Given the description of an element on the screen output the (x, y) to click on. 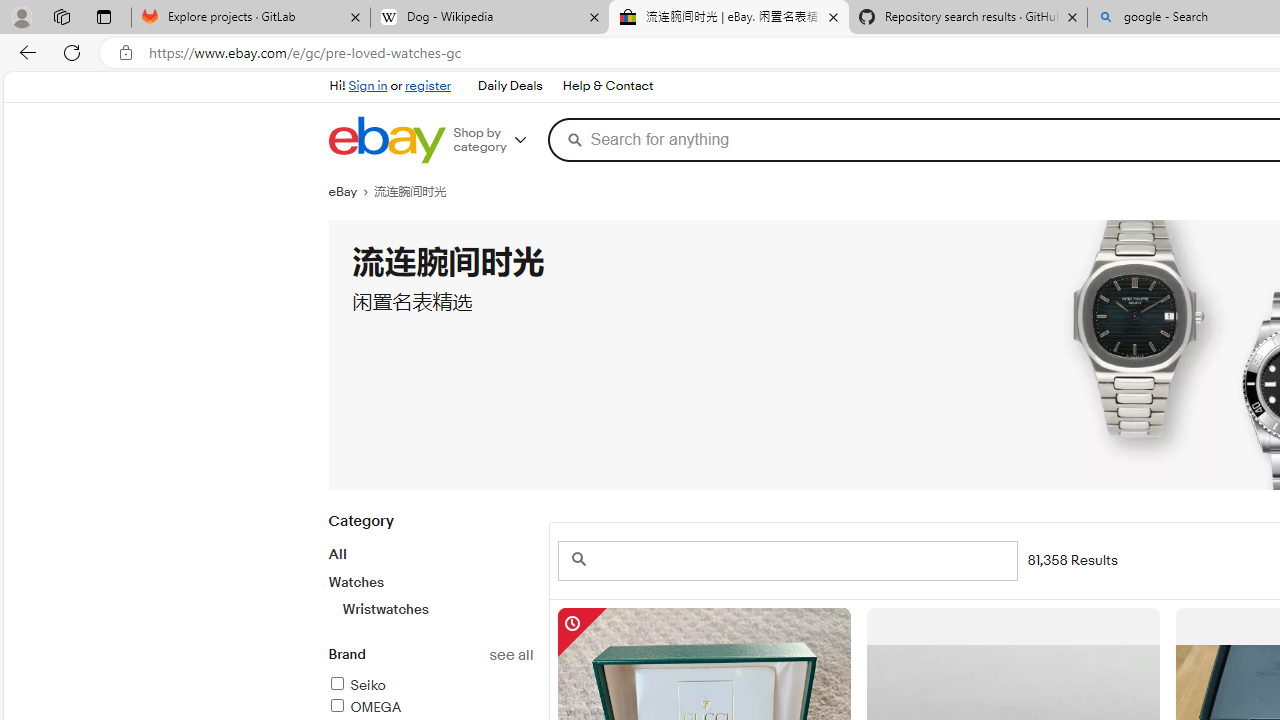
CategoryAllWatchesWristwatches (430, 576)
register (427, 85)
eBay (351, 192)
OMEGA (430, 708)
Seiko (430, 686)
Daily Deals (509, 86)
eBay Home (386, 139)
Wristwatches (437, 609)
